Given the description of an element on the screen output the (x, y) to click on. 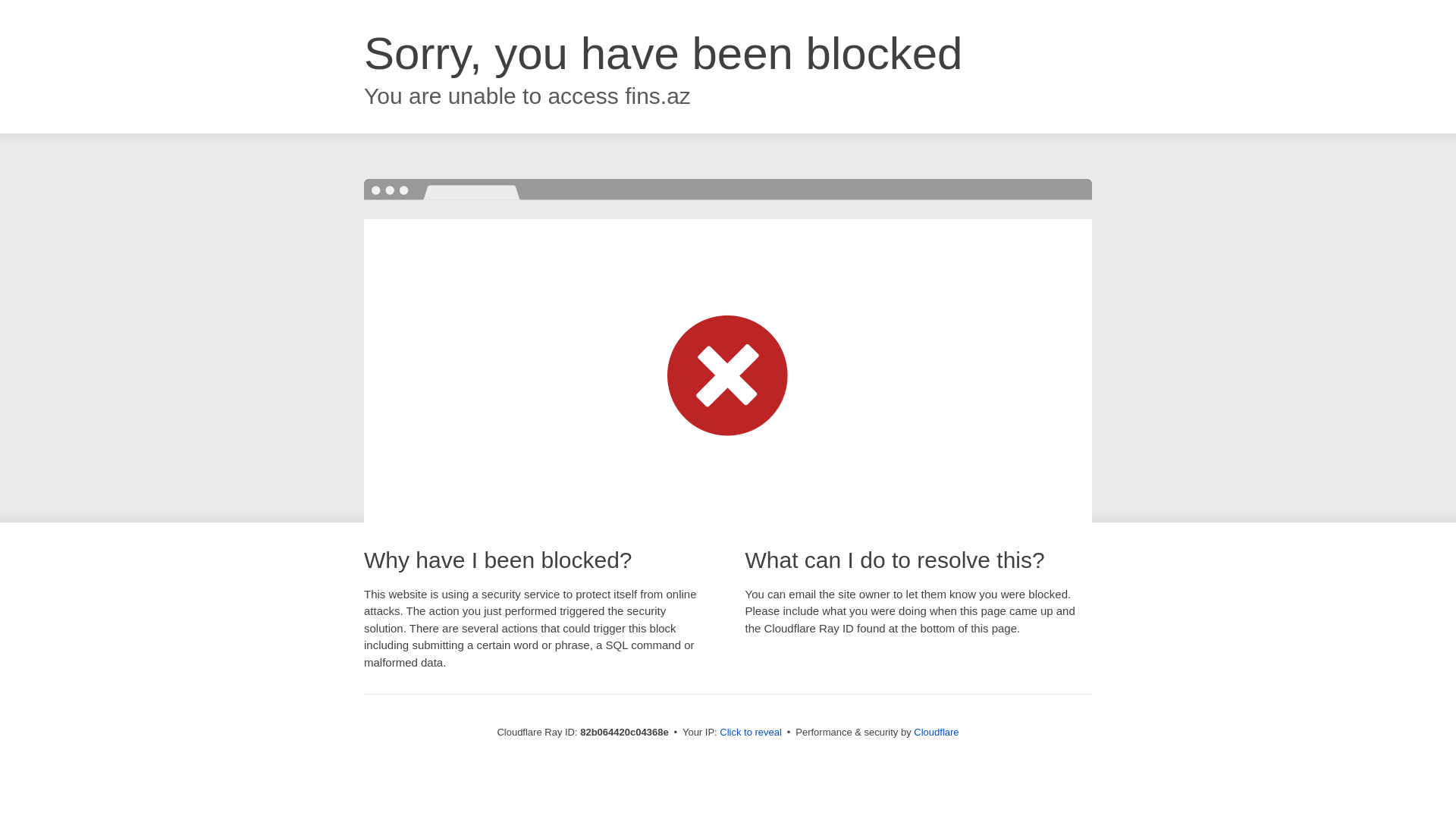
Cloudflare Element type: text (935, 731)
Click to reveal Element type: text (750, 732)
